Given the description of an element on the screen output the (x, y) to click on. 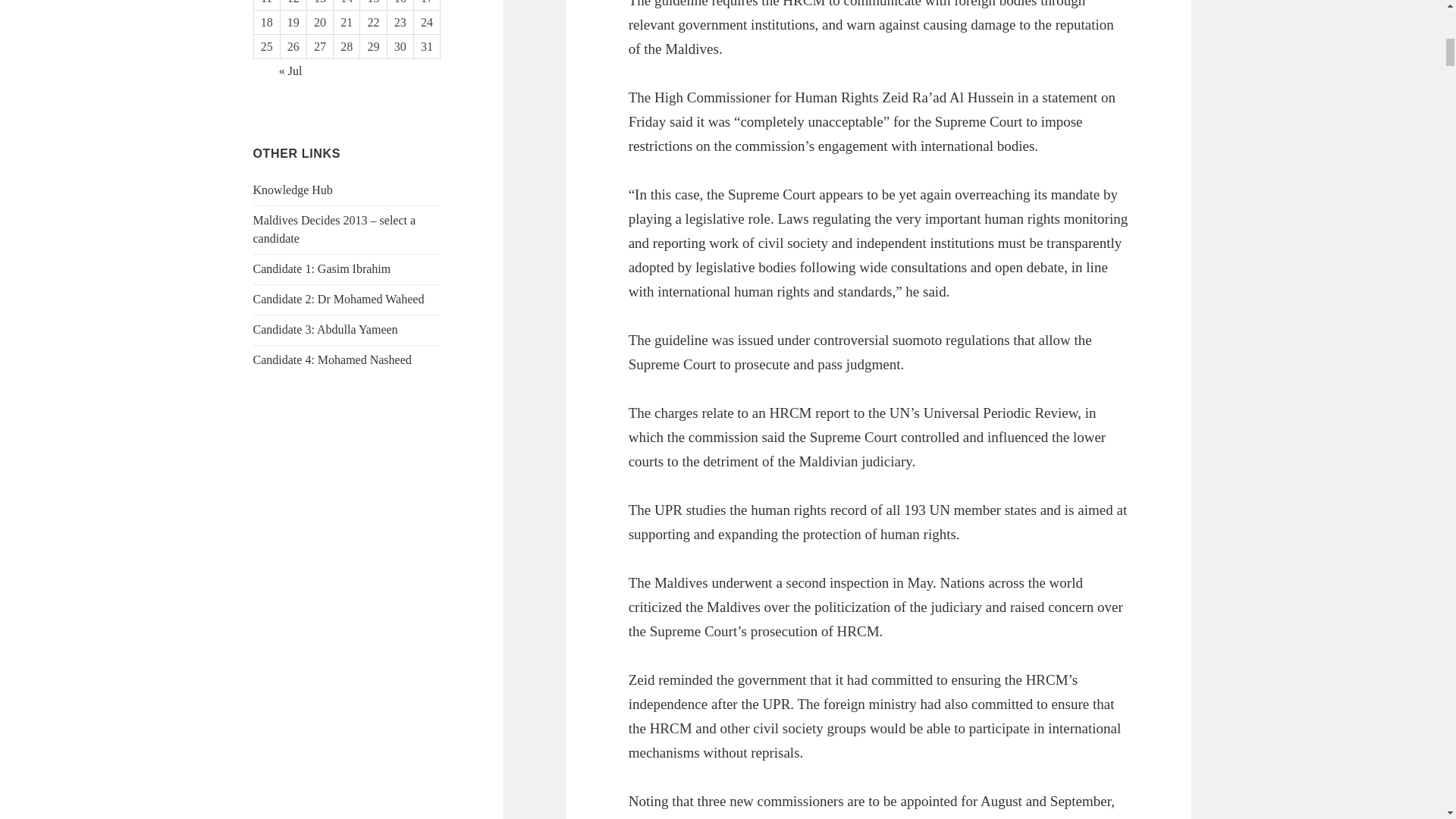
Candidate 1: Gasim Ibrahim (322, 268)
Candidate 4: Mohamed Nasheed (332, 359)
Candidate 2: Dr Mohamed Waheed (339, 298)
Candidate 3: Abdulla Yameen (325, 328)
Knowledge Hub (293, 189)
